Given the description of an element on the screen output the (x, y) to click on. 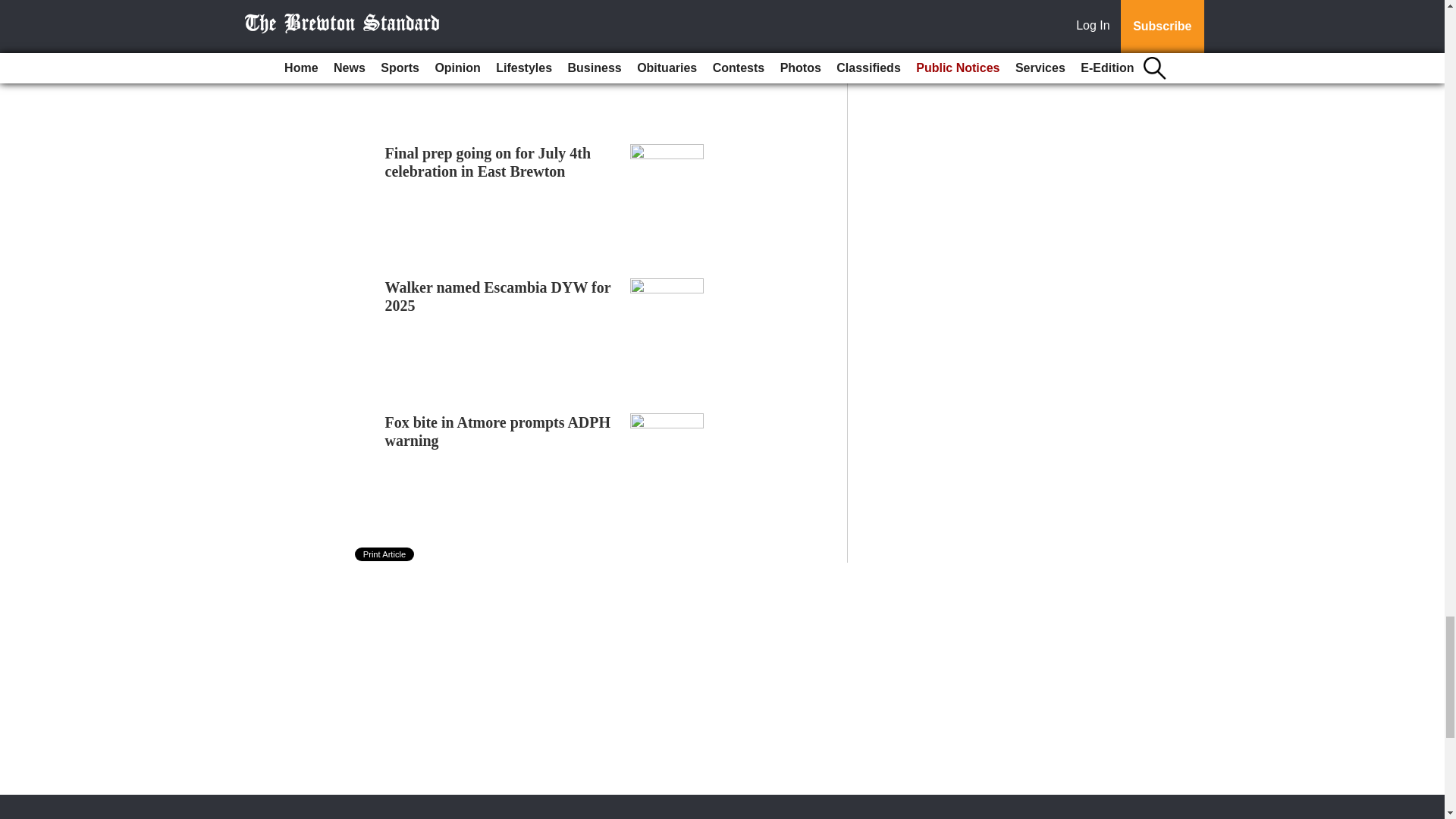
Walker named Escambia DYW for 2025 (498, 296)
Walker named Escambia DYW for 2025 (498, 296)
Local vet to host annual rabies clinic (484, 27)
Final prep going on for July 4th celebration in East Brewton (488, 161)
Local vet to host annual rabies clinic (484, 27)
Fox bite in Atmore prompts ADPH warning (498, 431)
Final prep going on for July 4th celebration in East Brewton (488, 161)
Fox bite in Atmore prompts ADPH warning (498, 431)
